Given the description of an element on the screen output the (x, y) to click on. 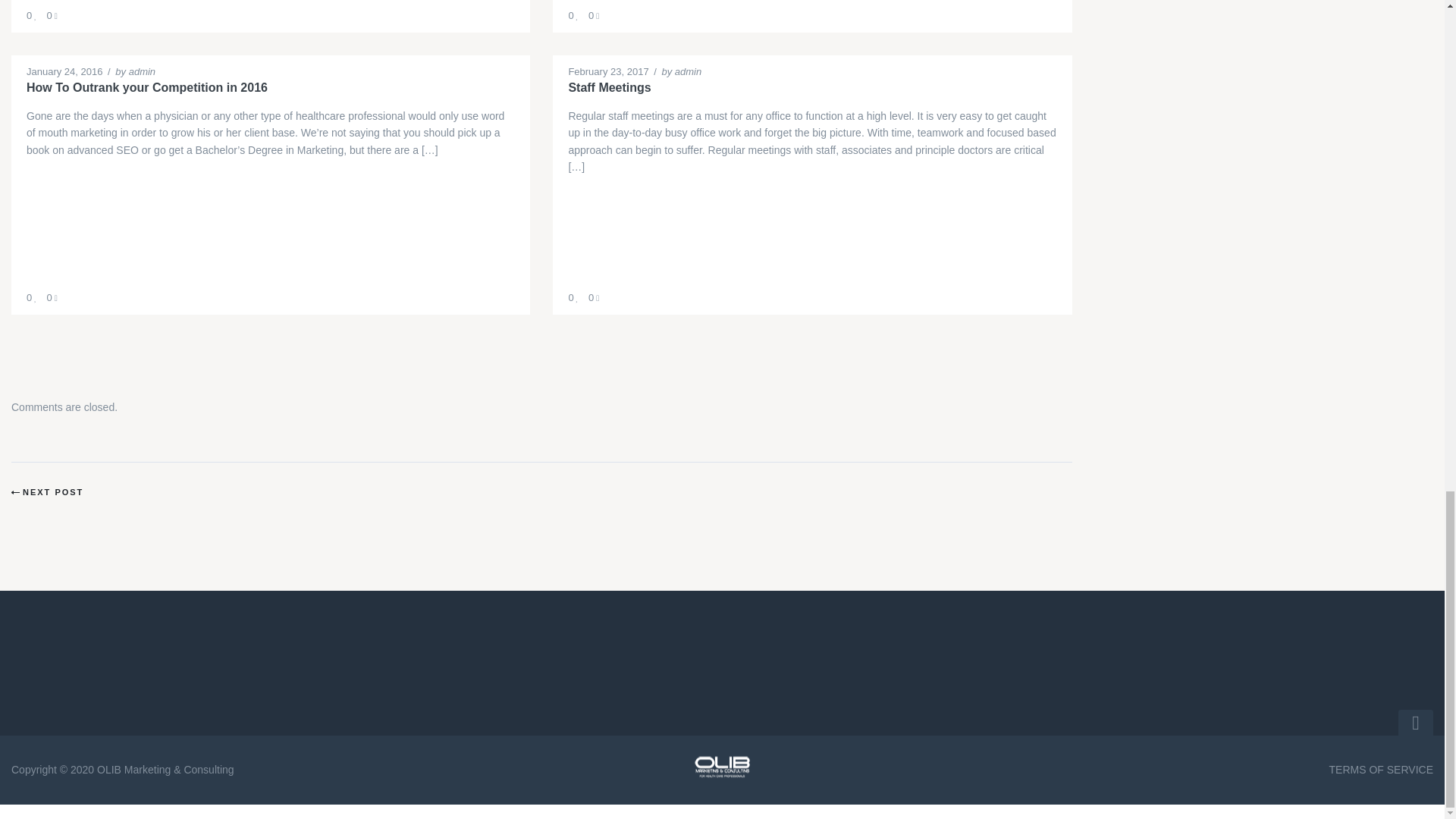
How To Outrank your Competition in 2016 (270, 88)
Logo (721, 767)
NEXT POST (46, 492)
Staff Meetings (812, 88)
